Given the description of an element on the screen output the (x, y) to click on. 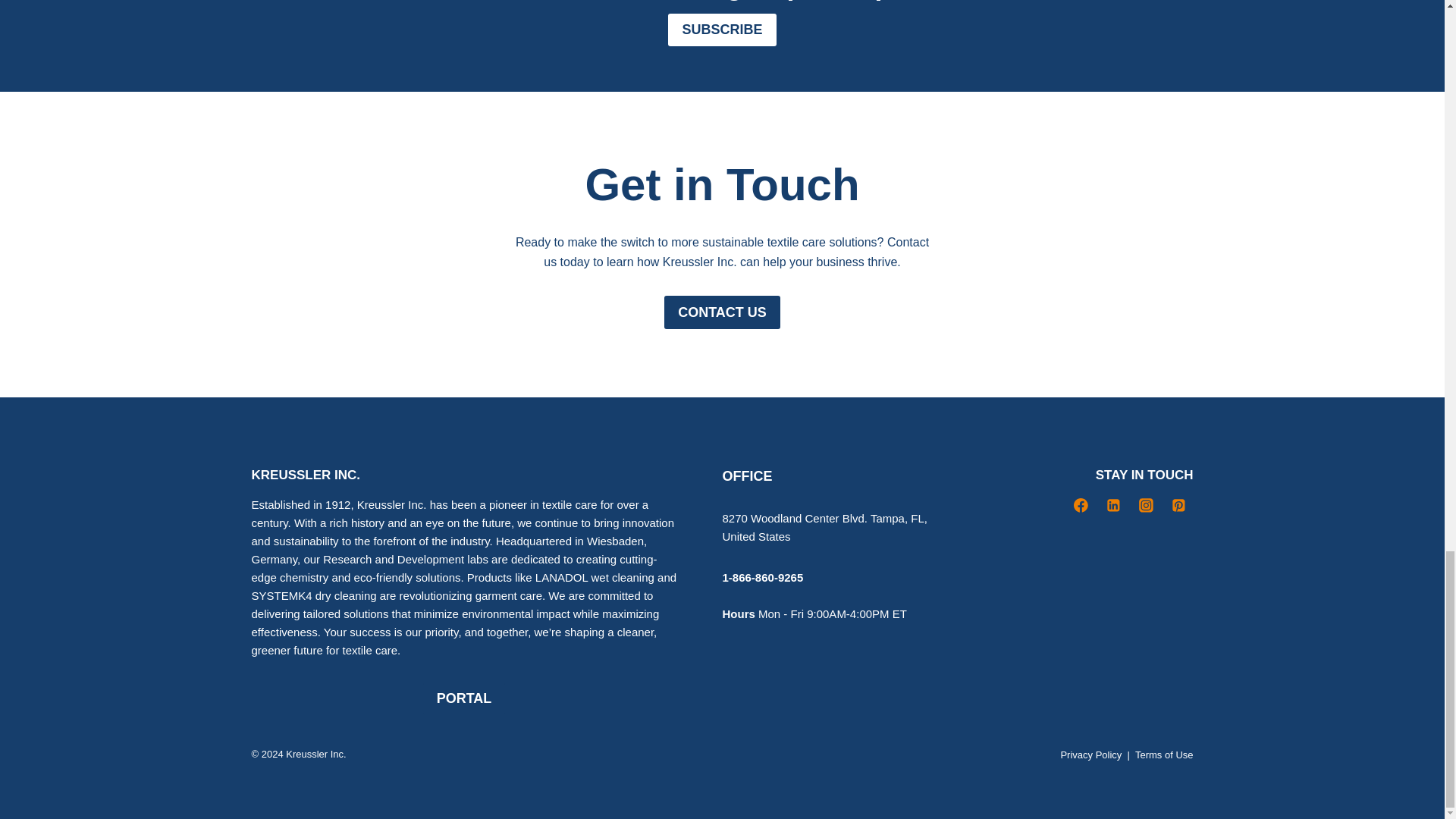
CONTACT US (721, 311)
SUBSCRIBE (722, 29)
Terms of Use (1164, 754)
Privacy Policy (1090, 754)
PORTAL (464, 698)
